Given the description of an element on the screen output the (x, y) to click on. 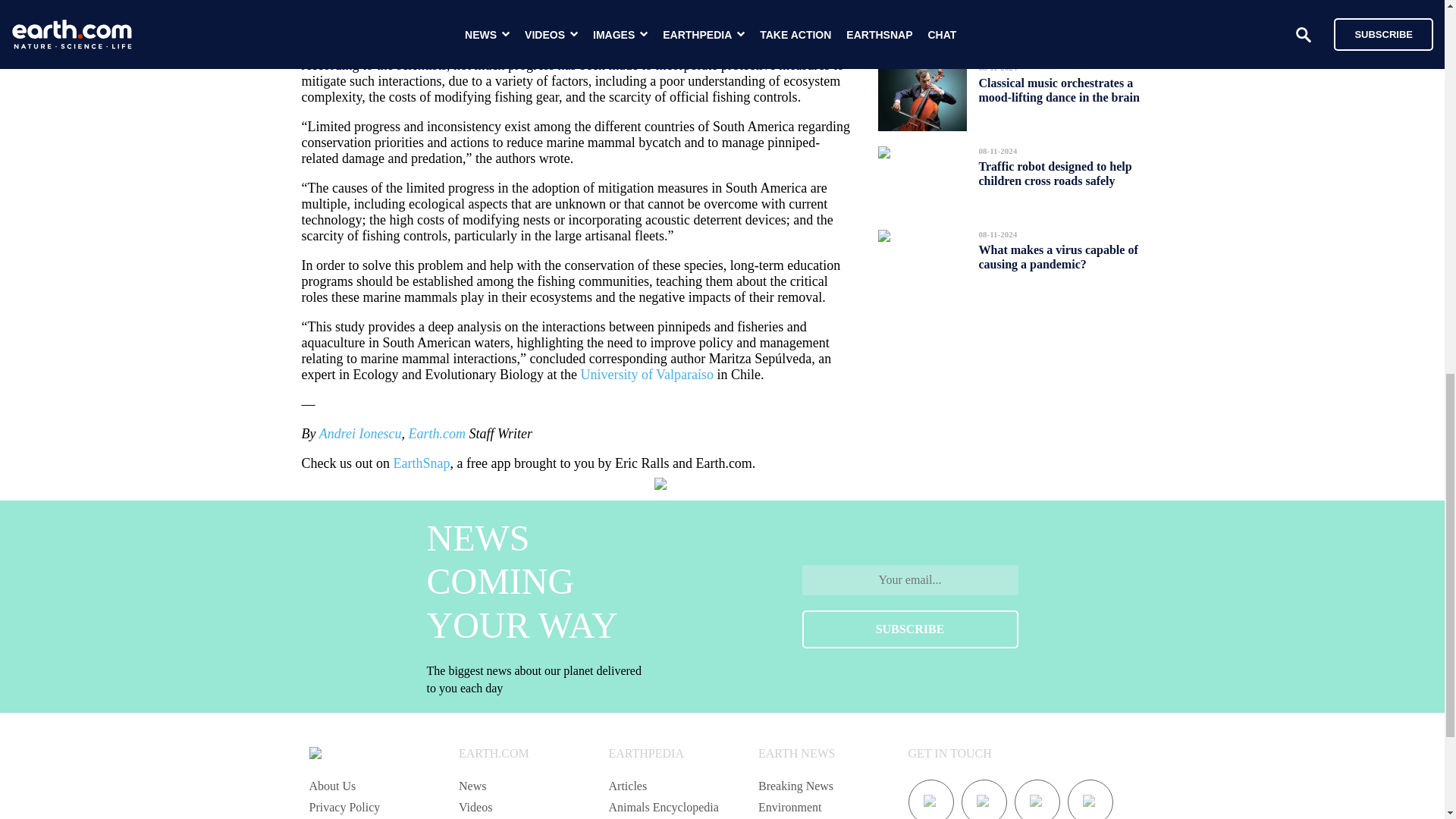
Traffic robot designed to help children cross roads safely (1054, 173)
What makes a virus capable of causing a pandemic? (1057, 256)
Andrei Ionescu (359, 433)
Earth.com (436, 433)
EarthSnap (421, 462)
